Given the description of an element on the screen output the (x, y) to click on. 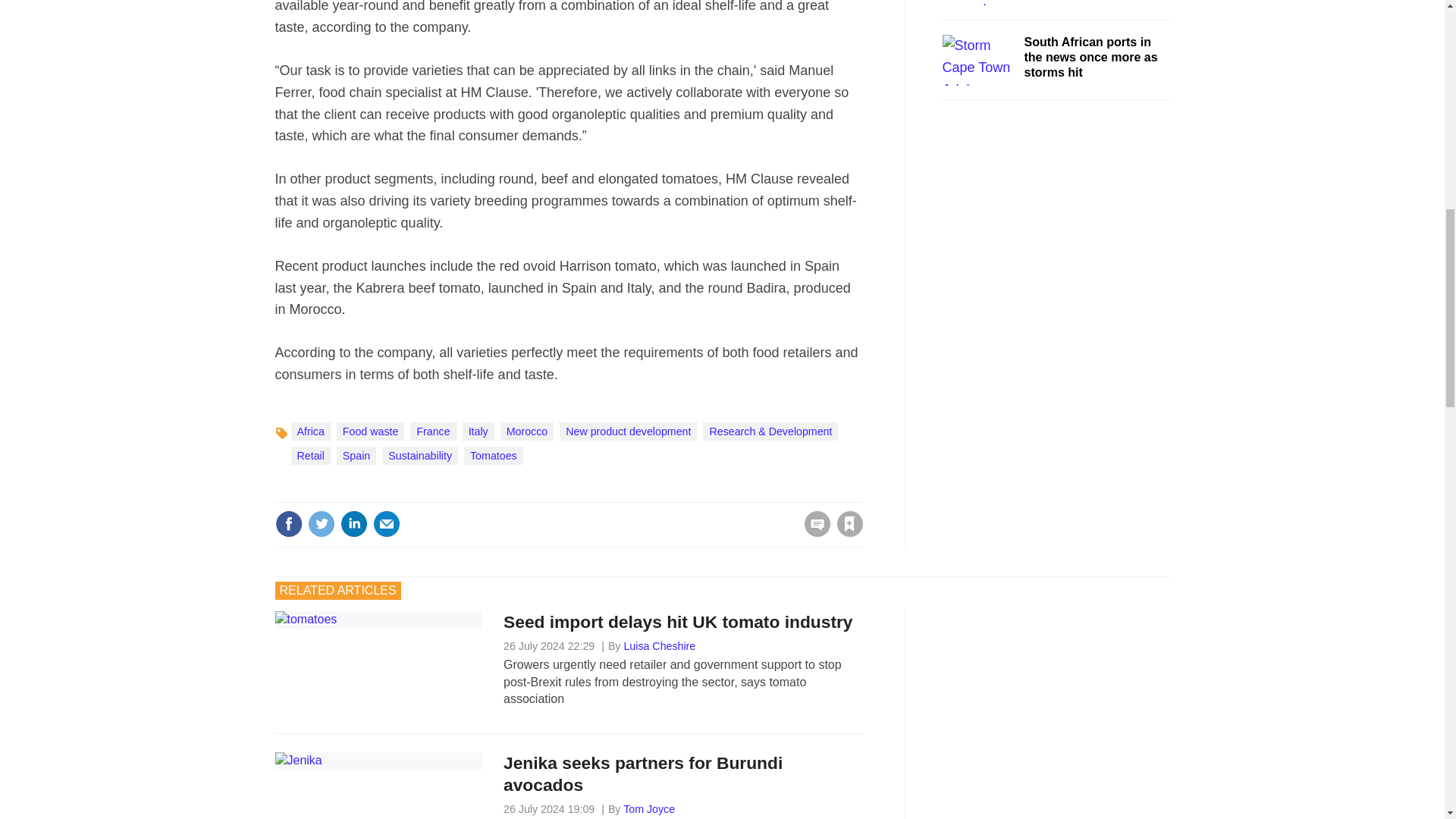
No comments (812, 532)
Email this article (386, 523)
Share this on Facebook (288, 523)
Share this on Twitter (320, 523)
Share this on Linked in (352, 523)
